Given the description of an element on the screen output the (x, y) to click on. 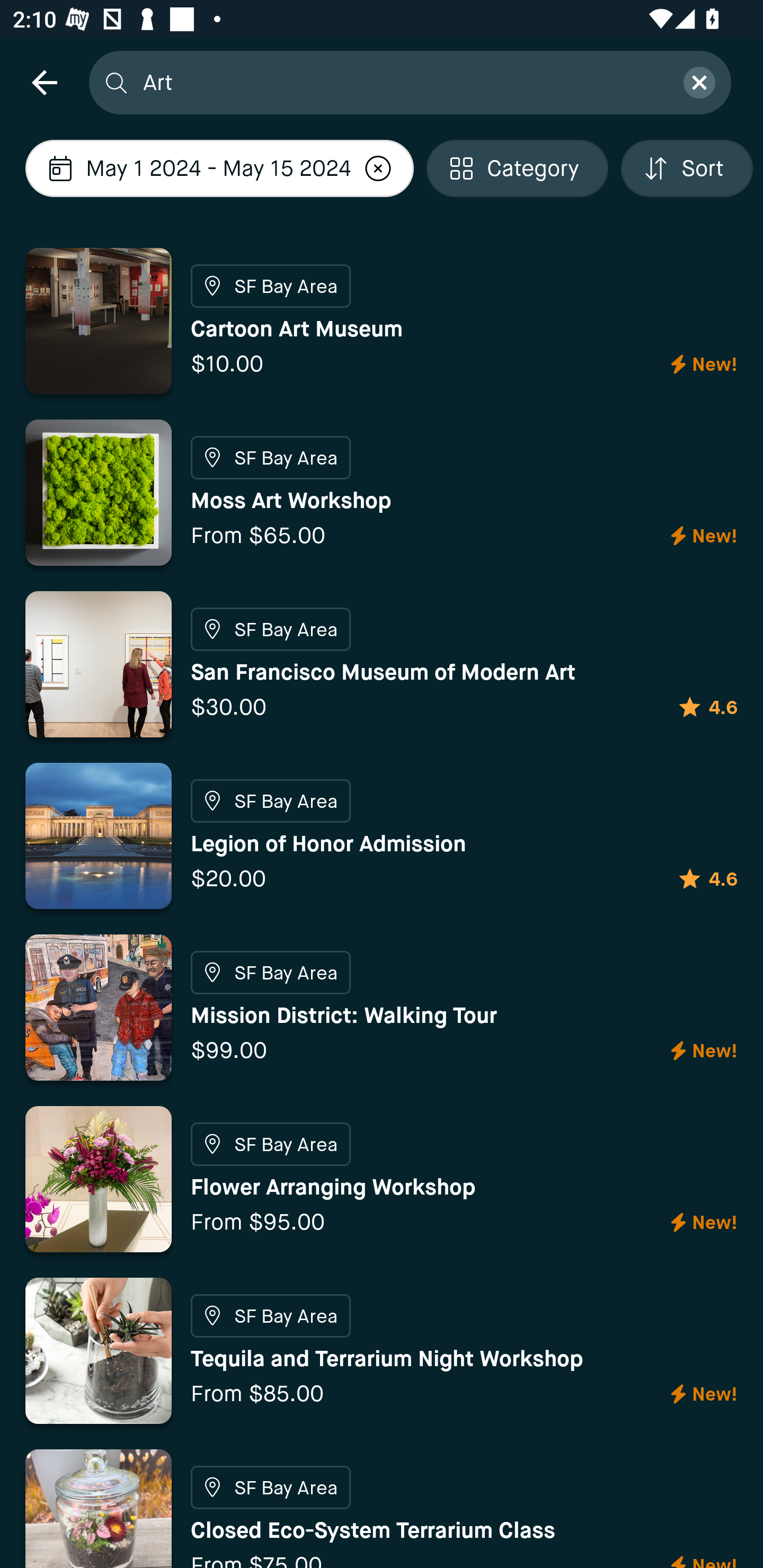
navigation icon (44, 81)
Art (402, 81)
Localized description (378, 168)
Localized description Category (517, 168)
Localized description Sort (687, 168)
